Given the description of an element on the screen output the (x, y) to click on. 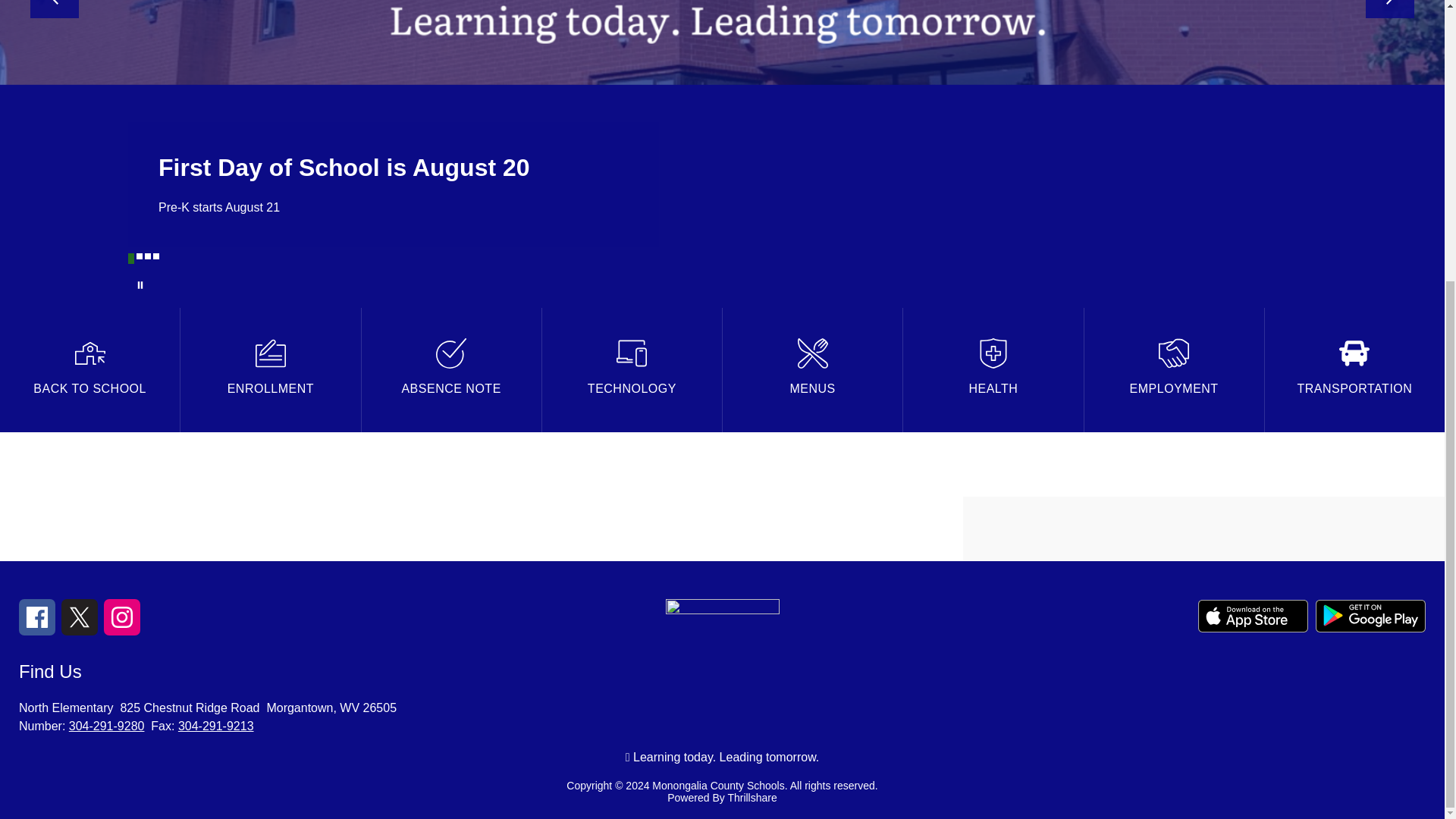
ABSENCE NOTE (450, 369)
304-291-9280 (106, 725)
BACK TO SCHOOL (89, 369)
TRANSPORTATION (1354, 369)
